Given the description of an element on the screen output the (x, y) to click on. 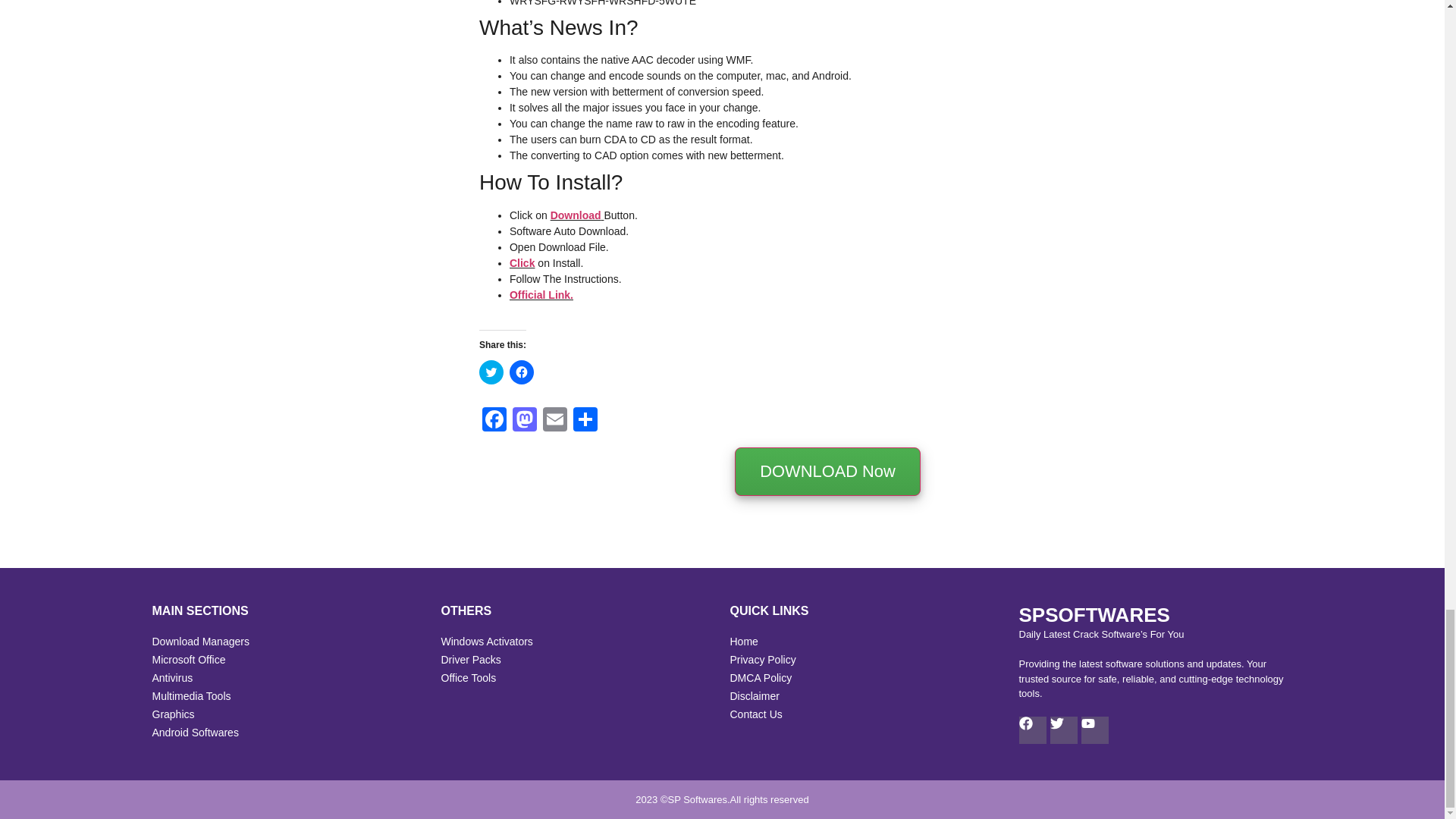
Facebook (494, 420)
Click to share on Facebook (521, 372)
Mastodon (524, 420)
Click to share on Twitter (491, 372)
